Given the description of an element on the screen output the (x, y) to click on. 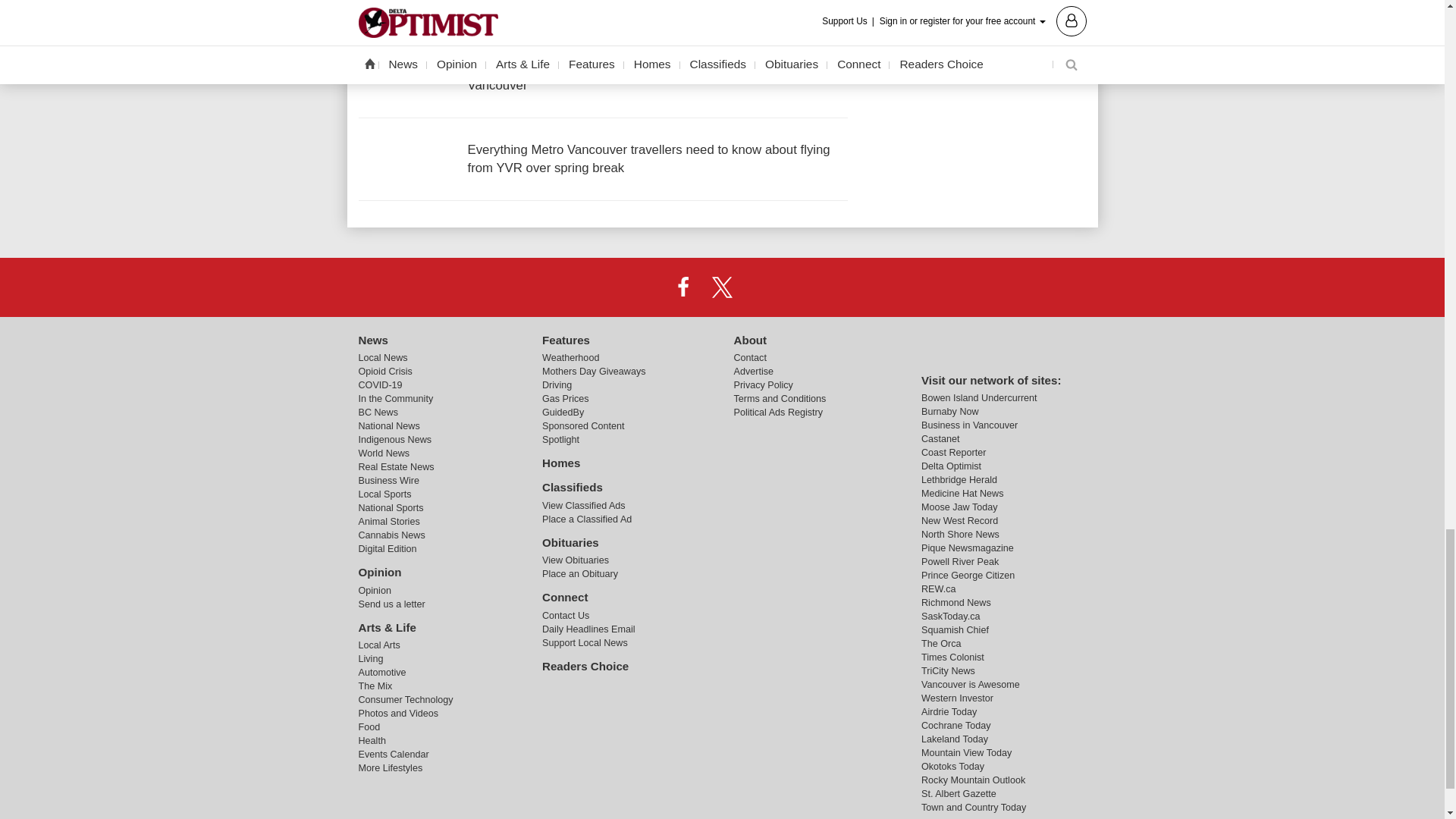
Instagram (760, 286)
Facebook (683, 286)
X (721, 286)
